Given the description of an element on the screen output the (x, y) to click on. 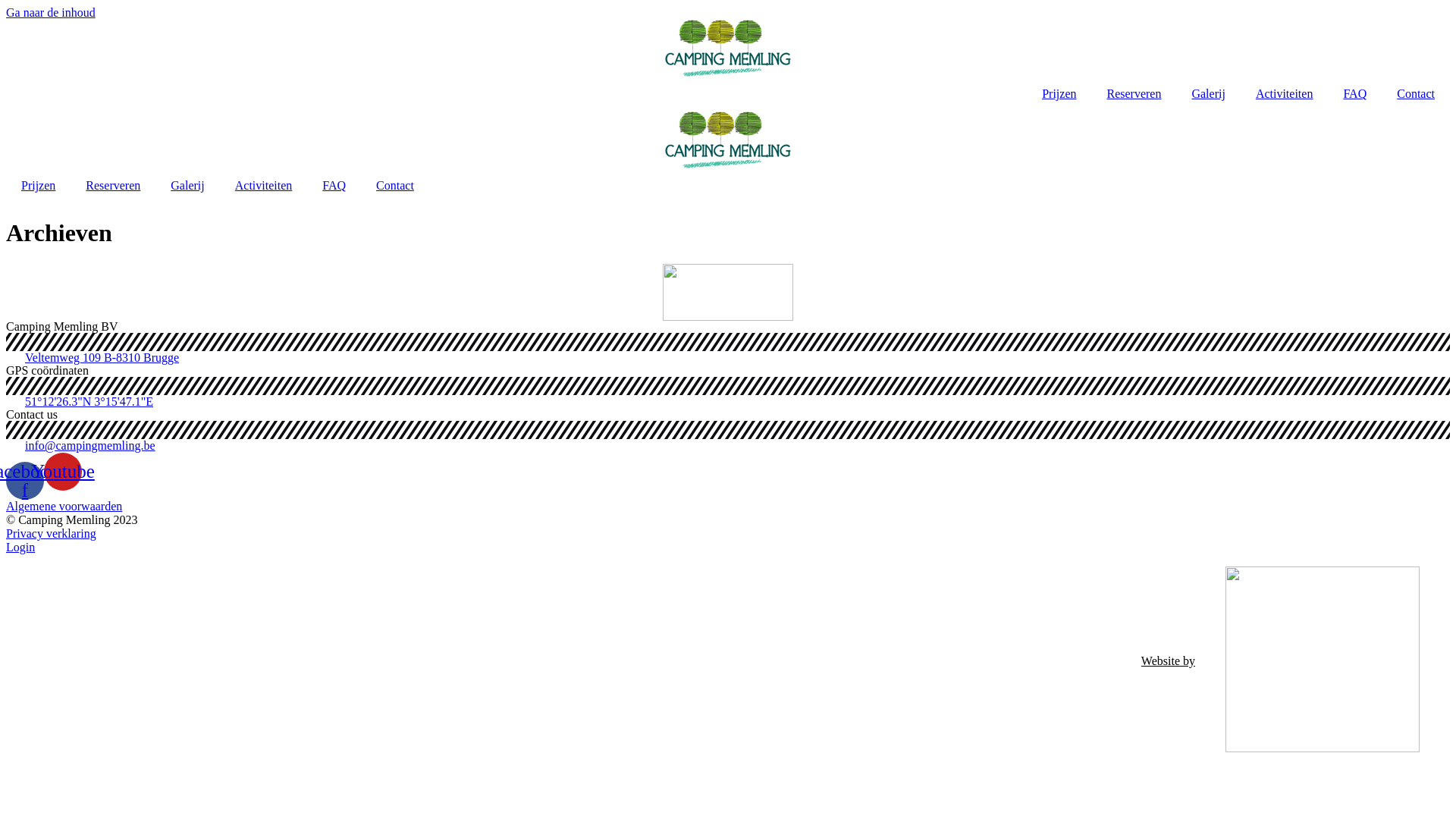
Website by Element type: text (1168, 660)
Login Element type: text (727, 547)
info@campingmemling.be Element type: text (727, 445)
Prijzen Element type: text (1058, 93)
Facebook-f Element type: text (24, 480)
Reserveren Element type: text (112, 185)
Galerij Element type: text (187, 185)
Ga naar de inhoud Element type: text (50, 12)
Contact Element type: text (394, 185)
Contact Element type: text (1415, 93)
Youtube Element type: text (62, 471)
Veltemweg 109 B-8310 Brugge Element type: text (727, 357)
FAQ Element type: text (333, 185)
Prijzen Element type: text (38, 185)
Algemene voorwaarden Element type: text (727, 506)
Activiteiten Element type: text (1284, 93)
Reserveren Element type: text (1133, 93)
FAQ Element type: text (1354, 93)
Galerij Element type: text (1207, 93)
Activiteiten Element type: text (263, 185)
Privacy verklaring Element type: text (727, 533)
